Given the description of an element on the screen output the (x, y) to click on. 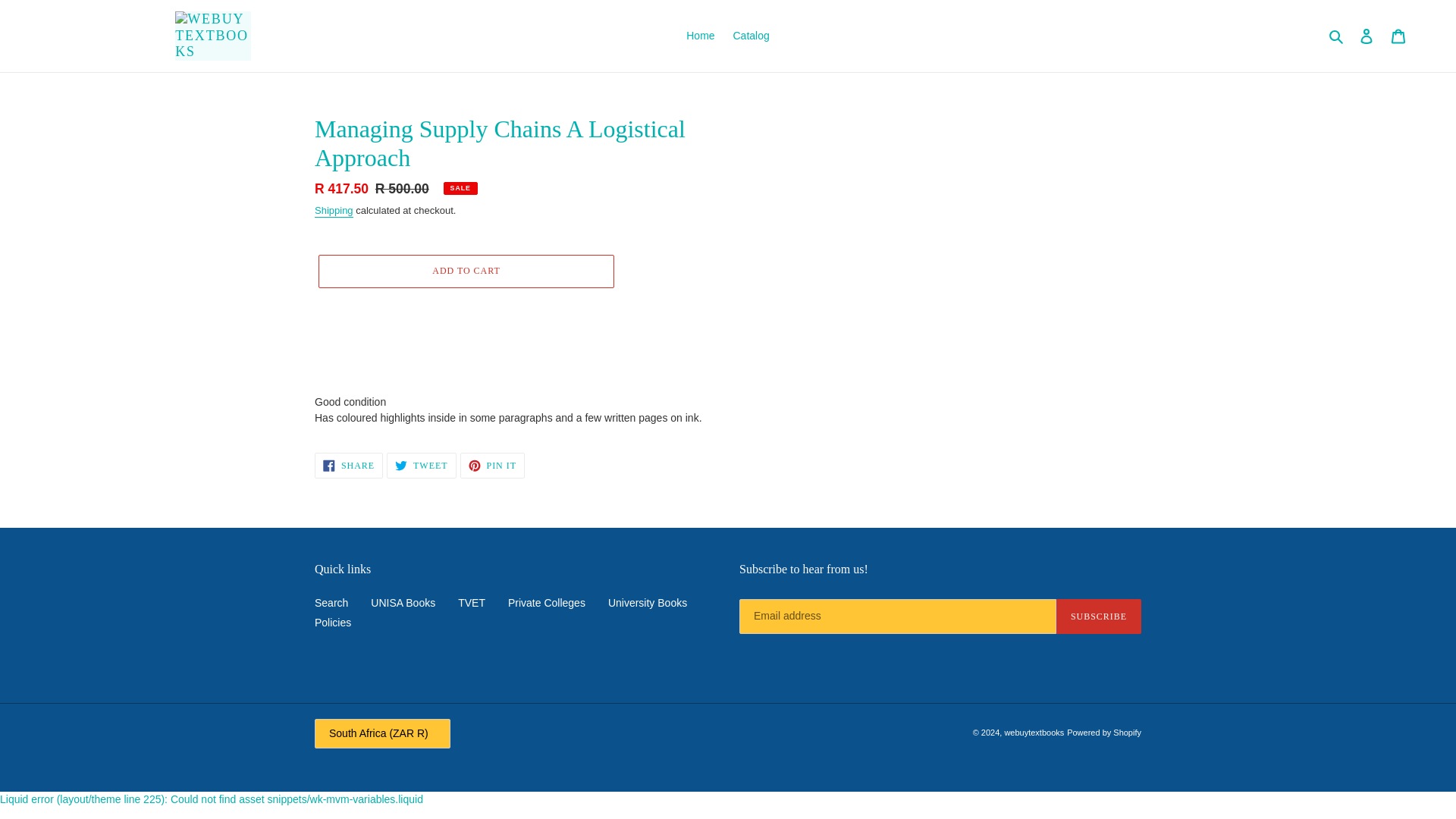
SUBSCRIBE (1099, 615)
Home (700, 35)
TVET (471, 603)
Log in (1366, 35)
Search (492, 465)
Private Colleges (1337, 36)
Cart (421, 465)
ADD TO CART (546, 603)
University Books (1397, 35)
Shipping (348, 465)
UNISA Books (466, 271)
Catalog (647, 603)
